Given the description of an element on the screen output the (x, y) to click on. 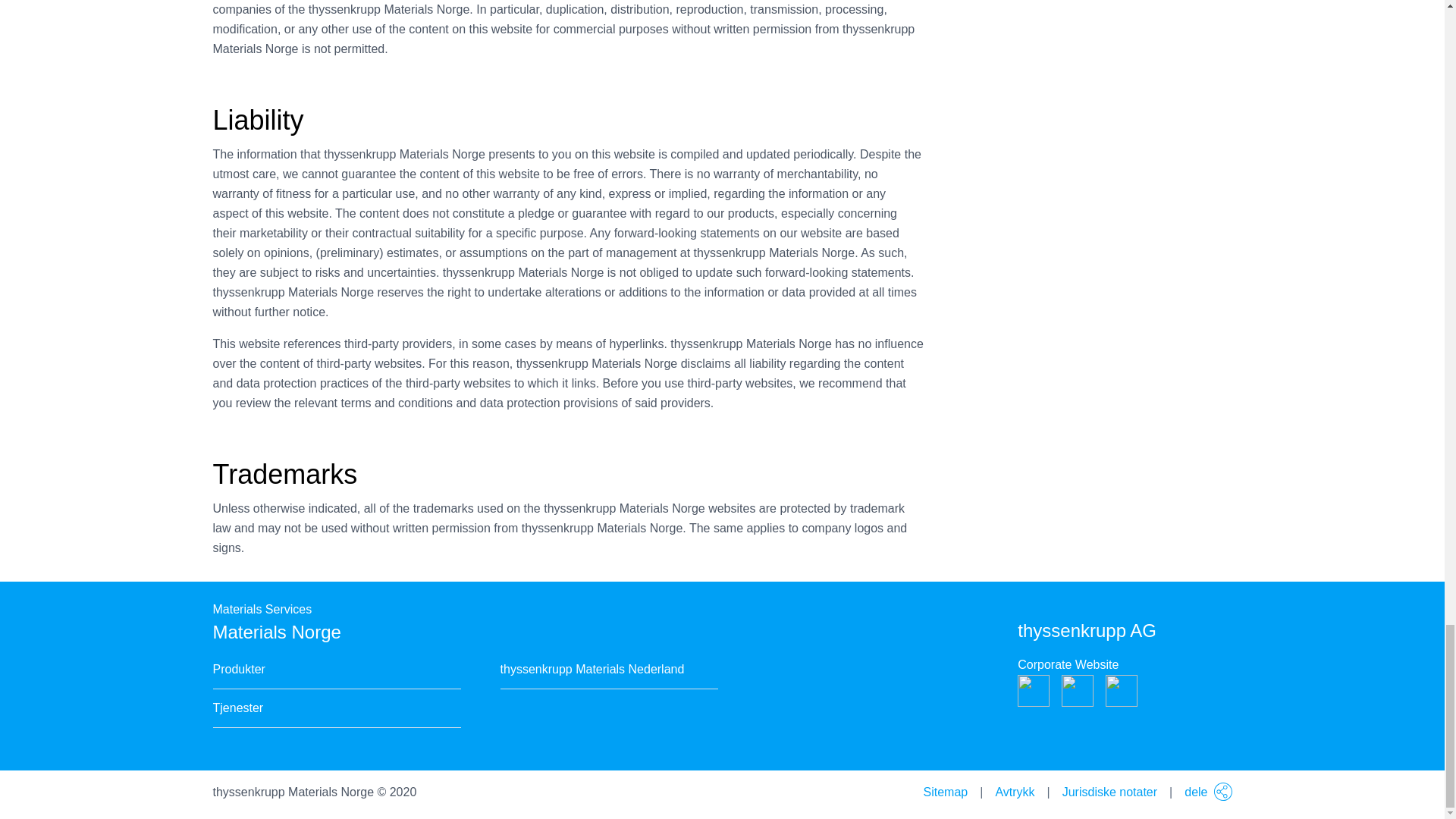
Tjenester (237, 708)
thyssenkrupp Materials Nederland (592, 669)
Corporate Website (1067, 664)
tk-share (1221, 791)
Sitemap (945, 792)
Avtrykk (1013, 792)
Produkter (238, 669)
Jurisdiske notater (1109, 792)
